Given the description of an element on the screen output the (x, y) to click on. 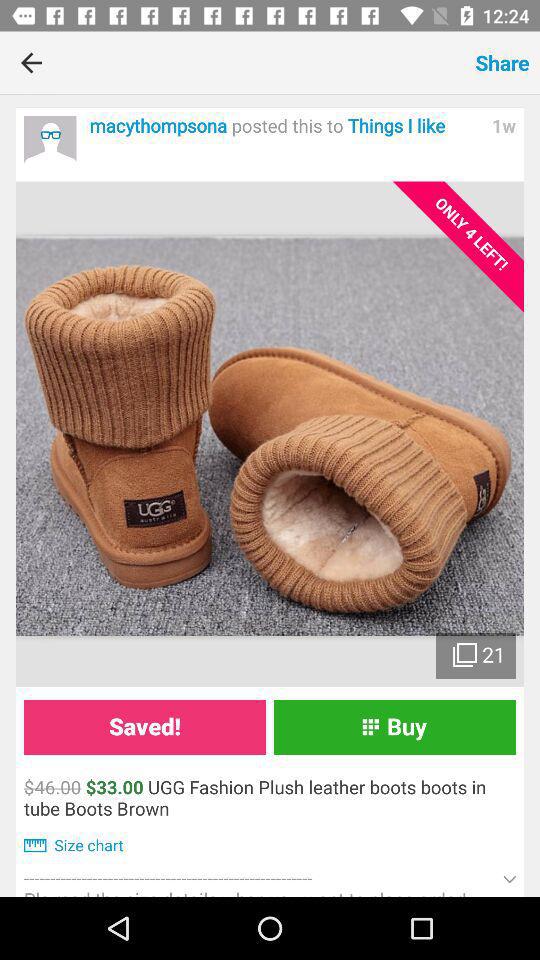
select item to the left of the 1w item (285, 126)
